Given the description of an element on the screen output the (x, y) to click on. 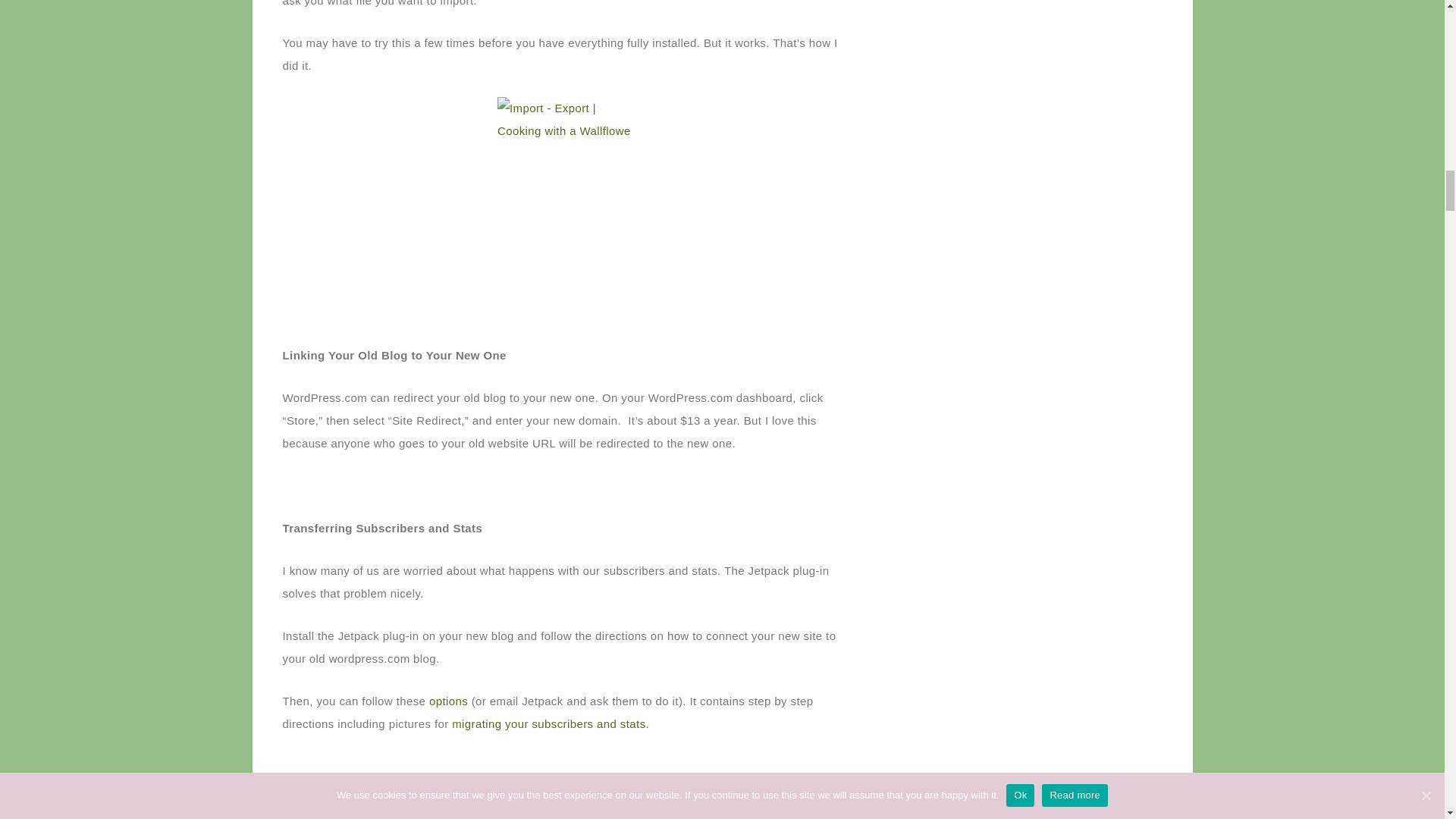
options (448, 700)
migrating your subscribers and stats (548, 723)
